Given the description of an element on the screen output the (x, y) to click on. 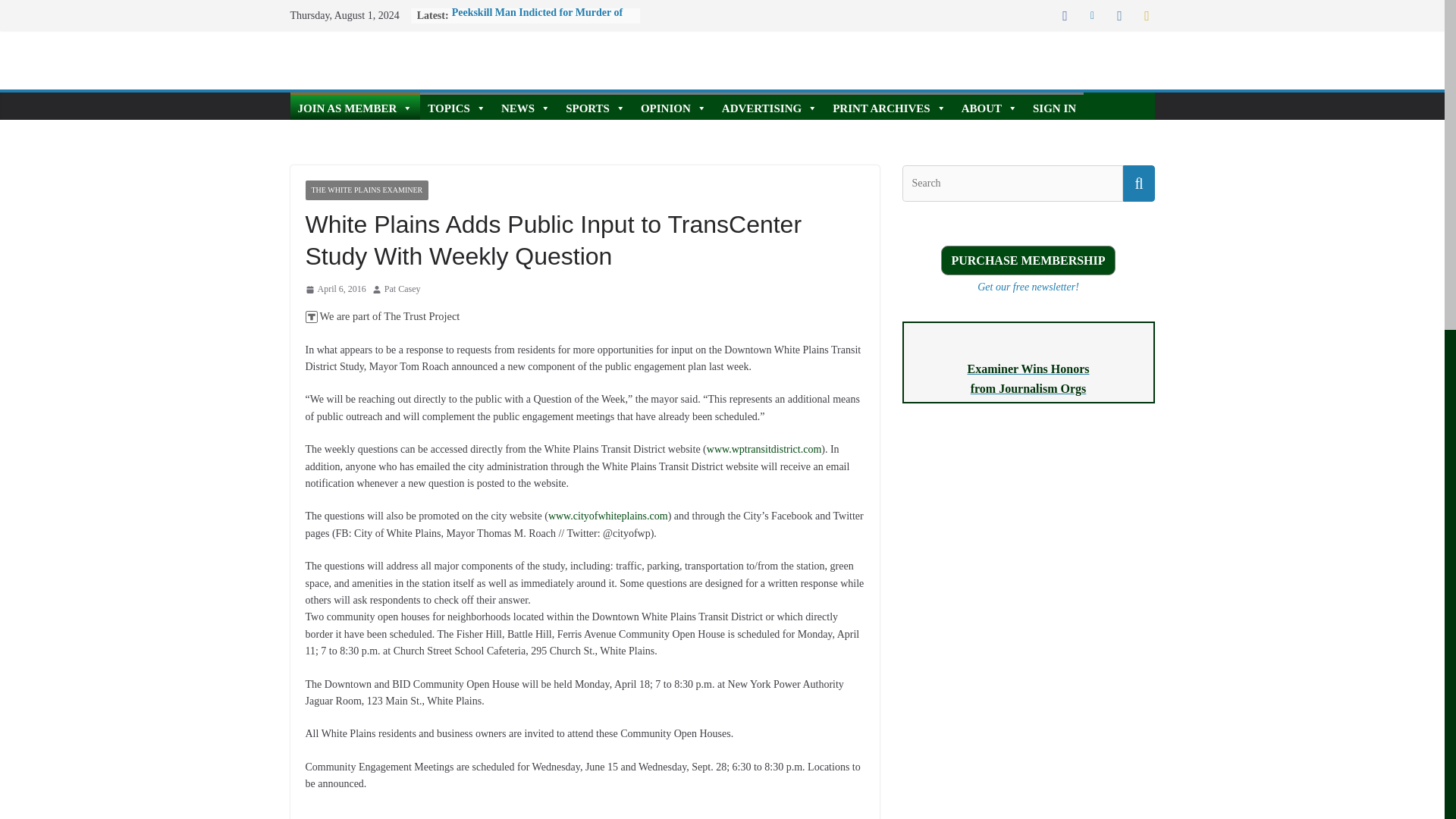
Peekskill Man Indicted for Murder of County Social Worker (537, 19)
JOIN AS MEMBER (354, 105)
10:19 am (334, 289)
NEWS (525, 105)
TOPICS (456, 105)
Pat Casey (402, 289)
Peekskill Man Indicted for Murder of County Social Worker (537, 19)
